Given the description of an element on the screen output the (x, y) to click on. 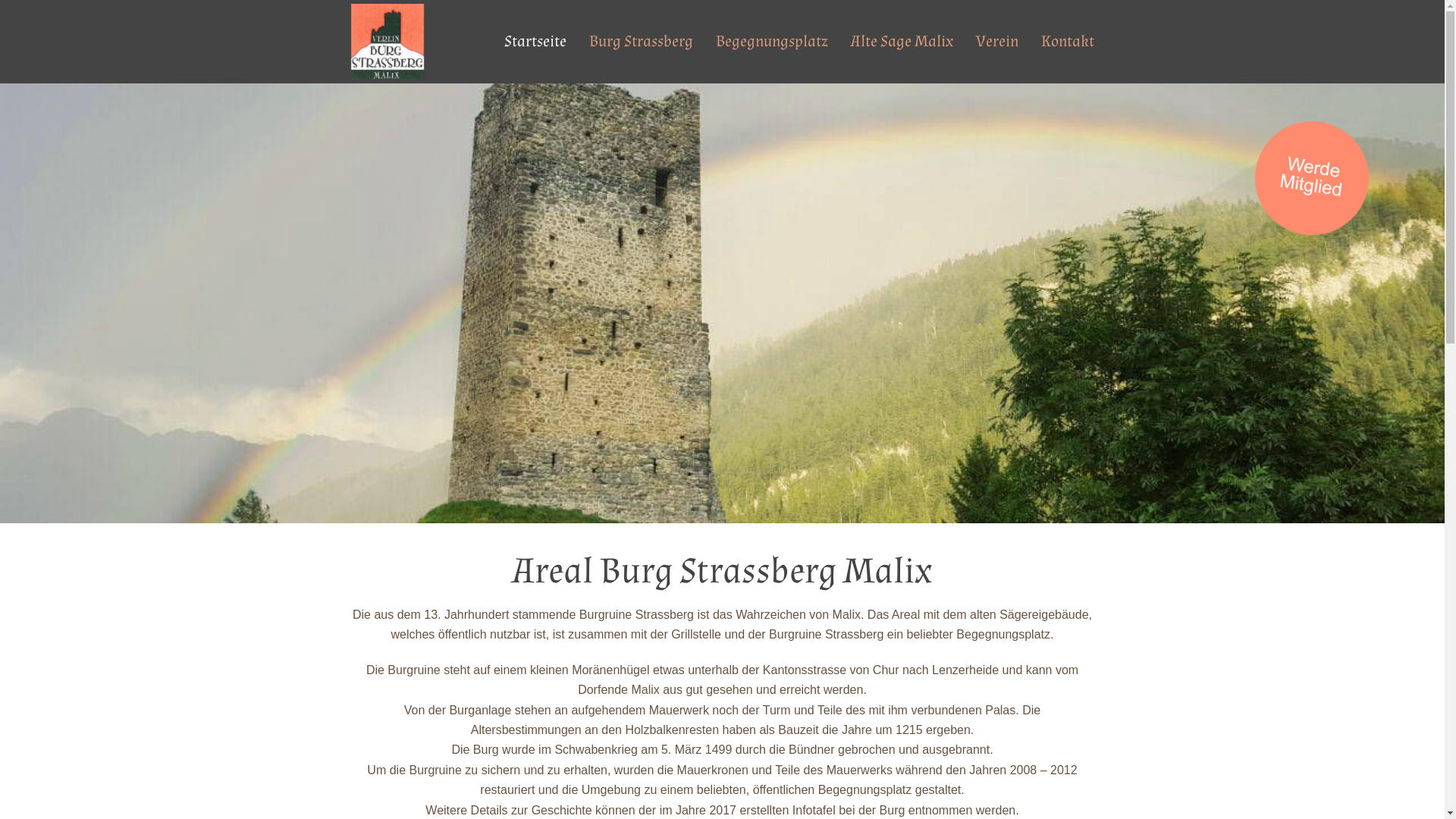
Kontakt Element type: text (1067, 41)
Alte Sage Malix Element type: text (900, 41)
Startseite Element type: text (534, 41)
Verein Element type: text (996, 41)
werde-mitglied Element type: hover (1311, 178)
Begegnungsplatz Element type: text (770, 41)
Burg Strassberg Element type: text (640, 41)
Areal Burg Strassberg Malix Element type: hover (386, 40)
